Given the description of an element on the screen output the (x, y) to click on. 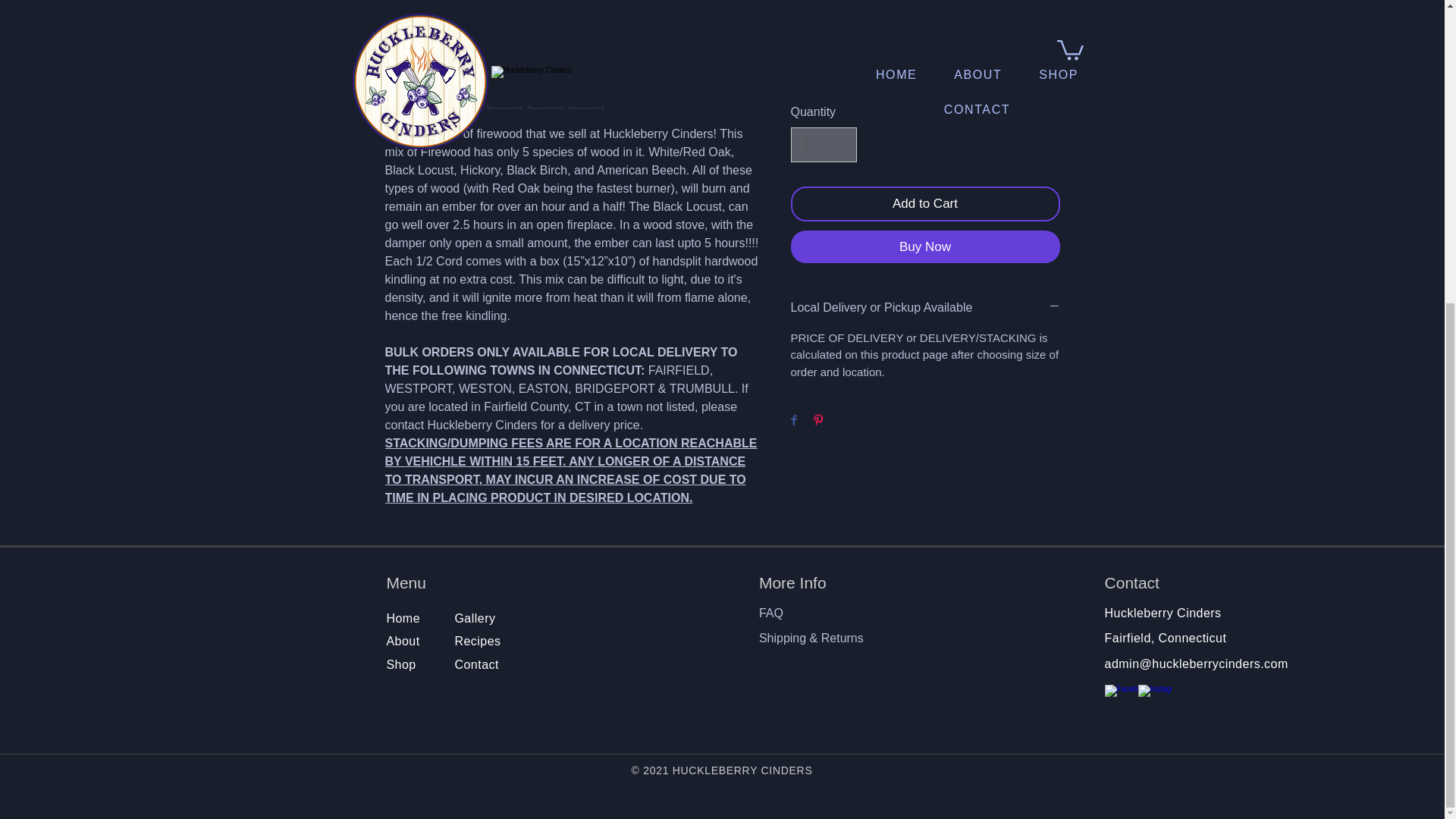
Gallery (474, 617)
Shop (399, 663)
1 (823, 144)
Home (402, 617)
FAQ (770, 612)
Add to Cart (924, 203)
Select (924, 8)
Local Delivery or Pickup Available (924, 307)
About  (404, 640)
Buy Now (924, 246)
